Given the description of an element on the screen output the (x, y) to click on. 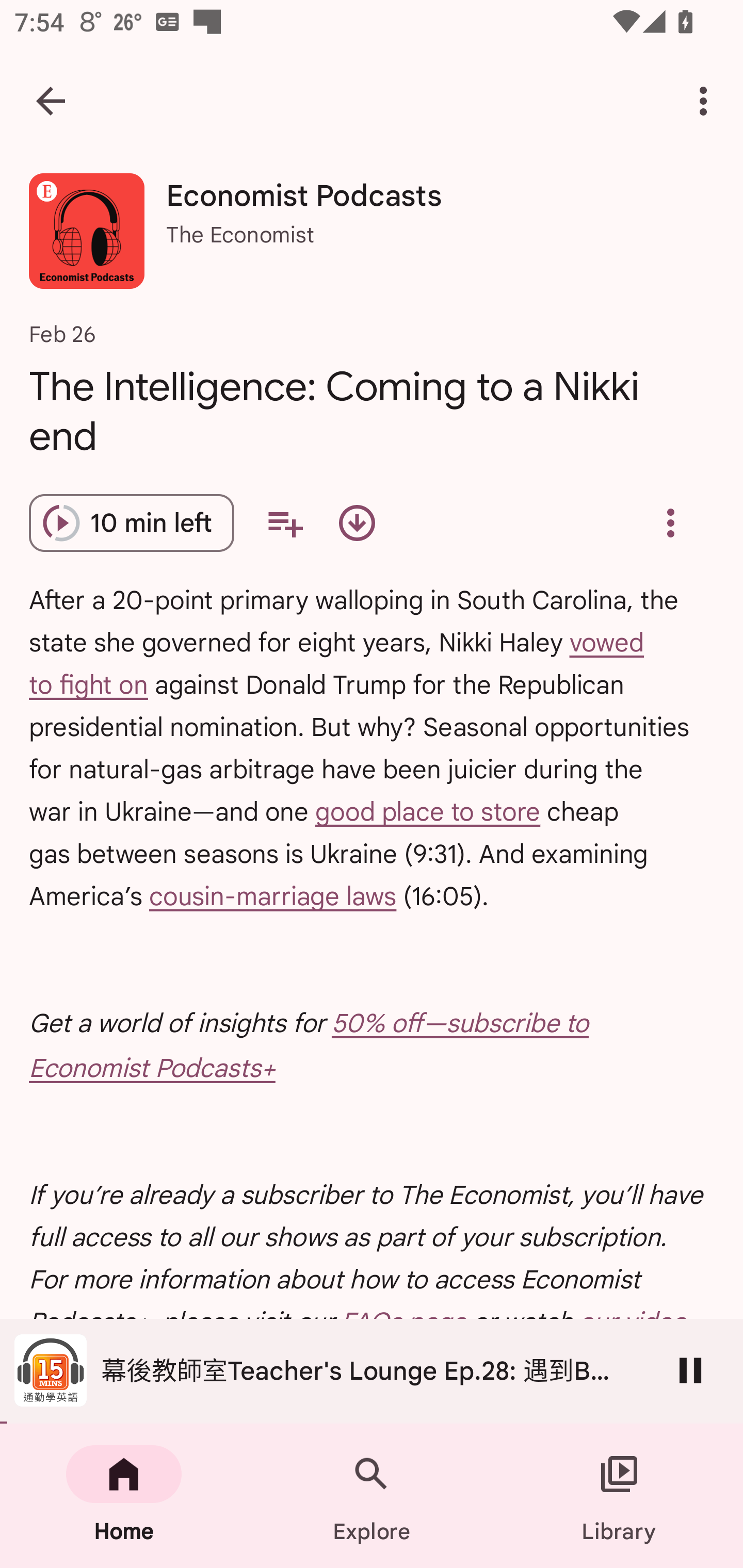
Navigate up (50, 101)
More options (706, 101)
Add to your queue (284, 522)
Download episode (356, 522)
Overflow menu (670, 522)
Pause (690, 1370)
Explore (371, 1495)
Library (619, 1495)
